Given the description of an element on the screen output the (x, y) to click on. 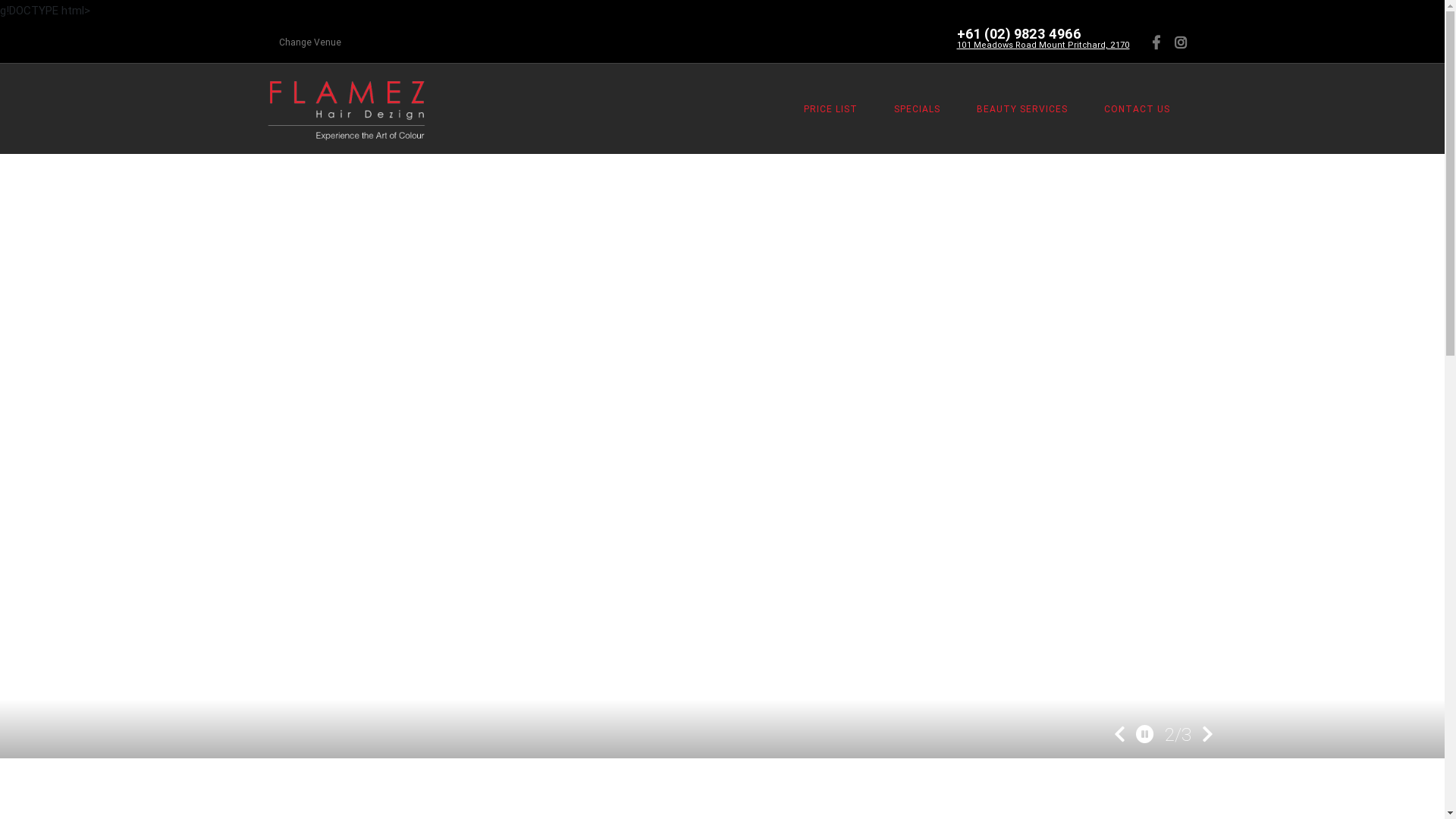
101 Meadows Road Mount Pritchard, 2170 Element type: text (1043, 43)
CONTACT US Element type: text (1136, 109)
BEAUTY SERVICES Element type: text (1022, 109)
Change Venue Element type: text (310, 41)
SPECIALS Element type: text (917, 109)
PRICE LIST Element type: text (830, 109)
